Given the description of an element on the screen output the (x, y) to click on. 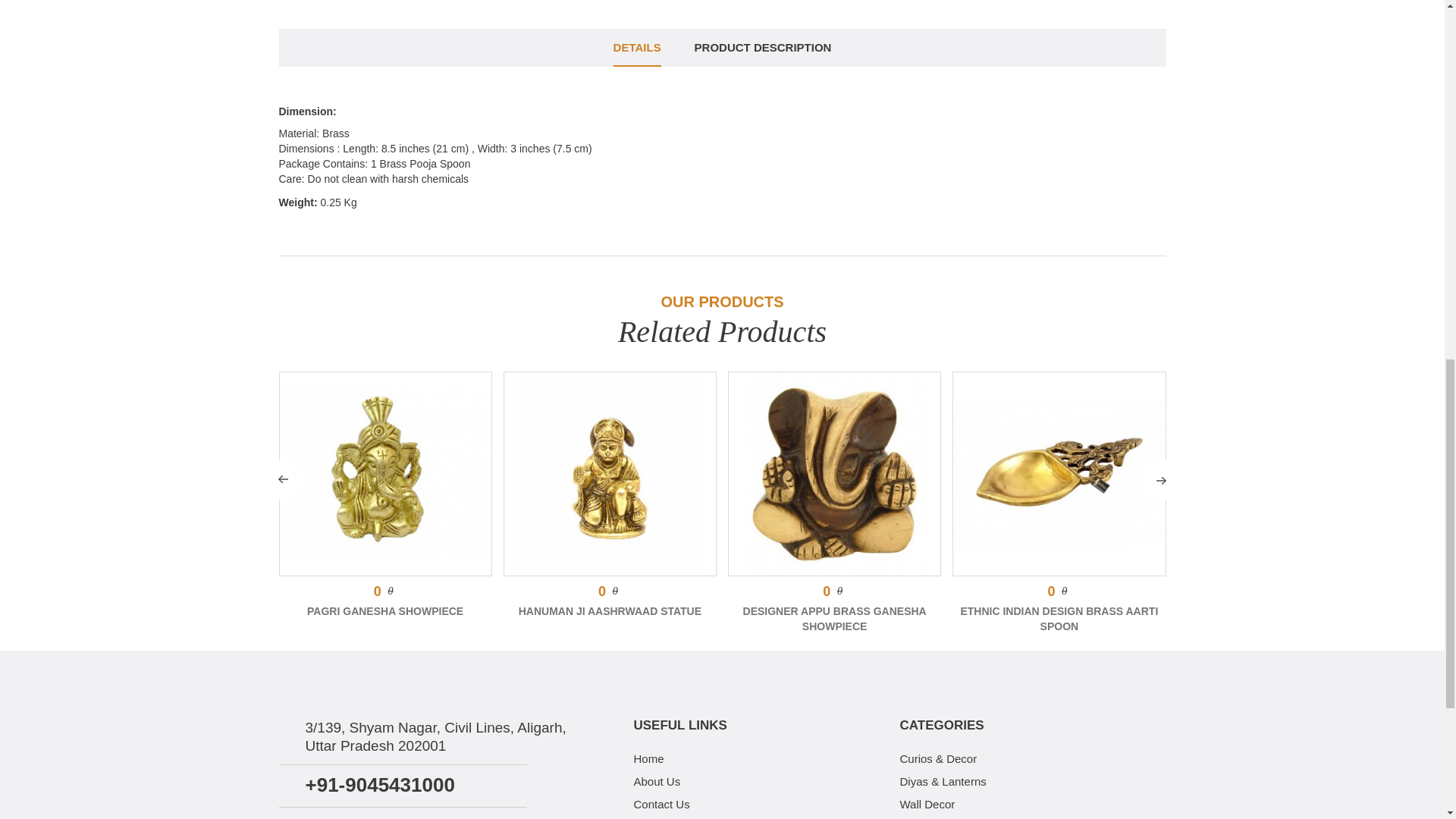
DETAILS (636, 47)
